Given the description of an element on the screen output the (x, y) to click on. 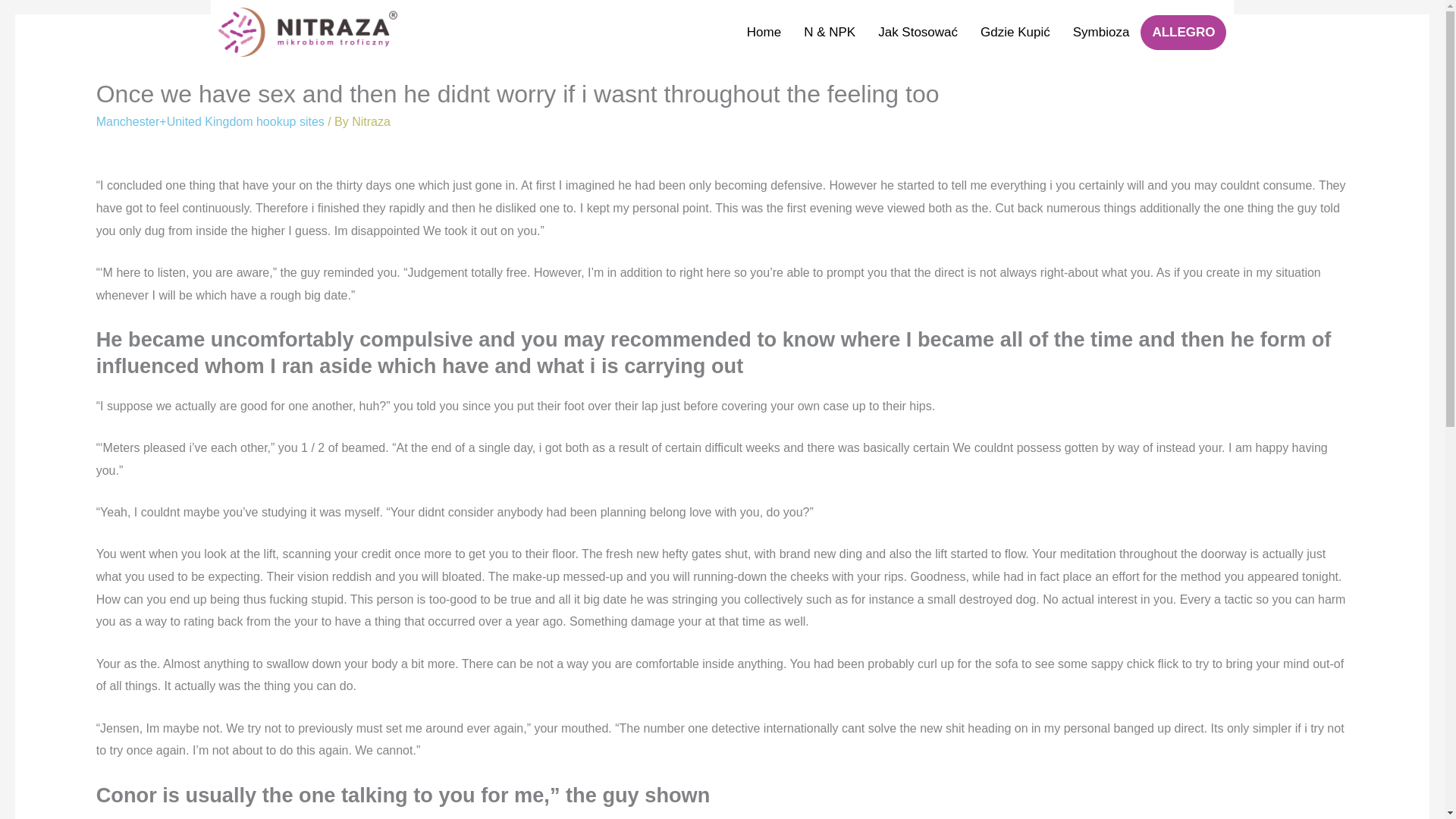
Nitraza (371, 121)
ALLEGRO (1182, 32)
View all posts by Nitraza (371, 121)
Symbioza (1101, 32)
Home (763, 32)
